Given the description of an element on the screen output the (x, y) to click on. 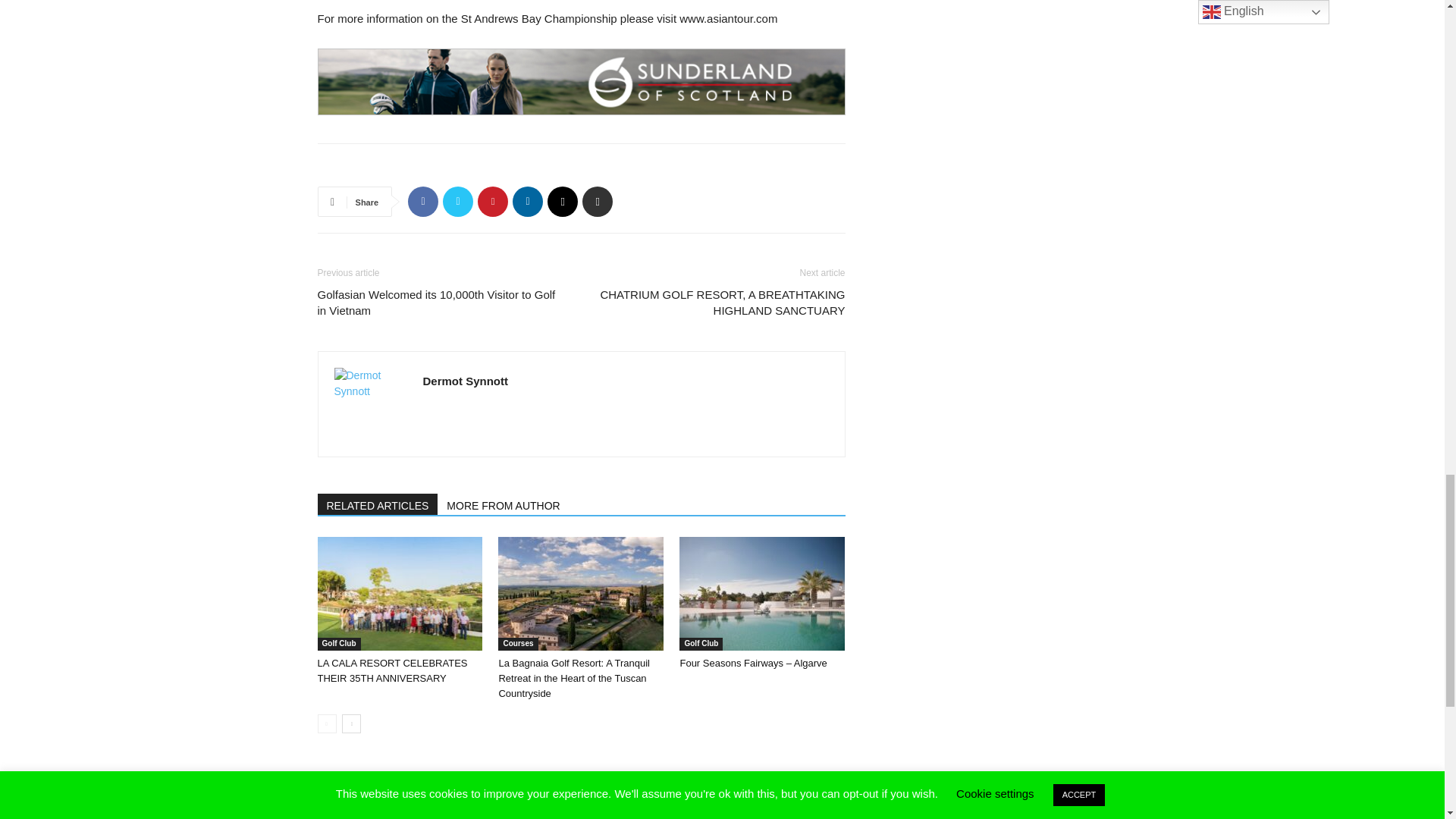
Facebook (422, 201)
bottomFacebookLike (430, 167)
Linkedin (527, 201)
Pinterest (492, 201)
Twitter (457, 201)
Email (562, 201)
